Given the description of an element on the screen output the (x, y) to click on. 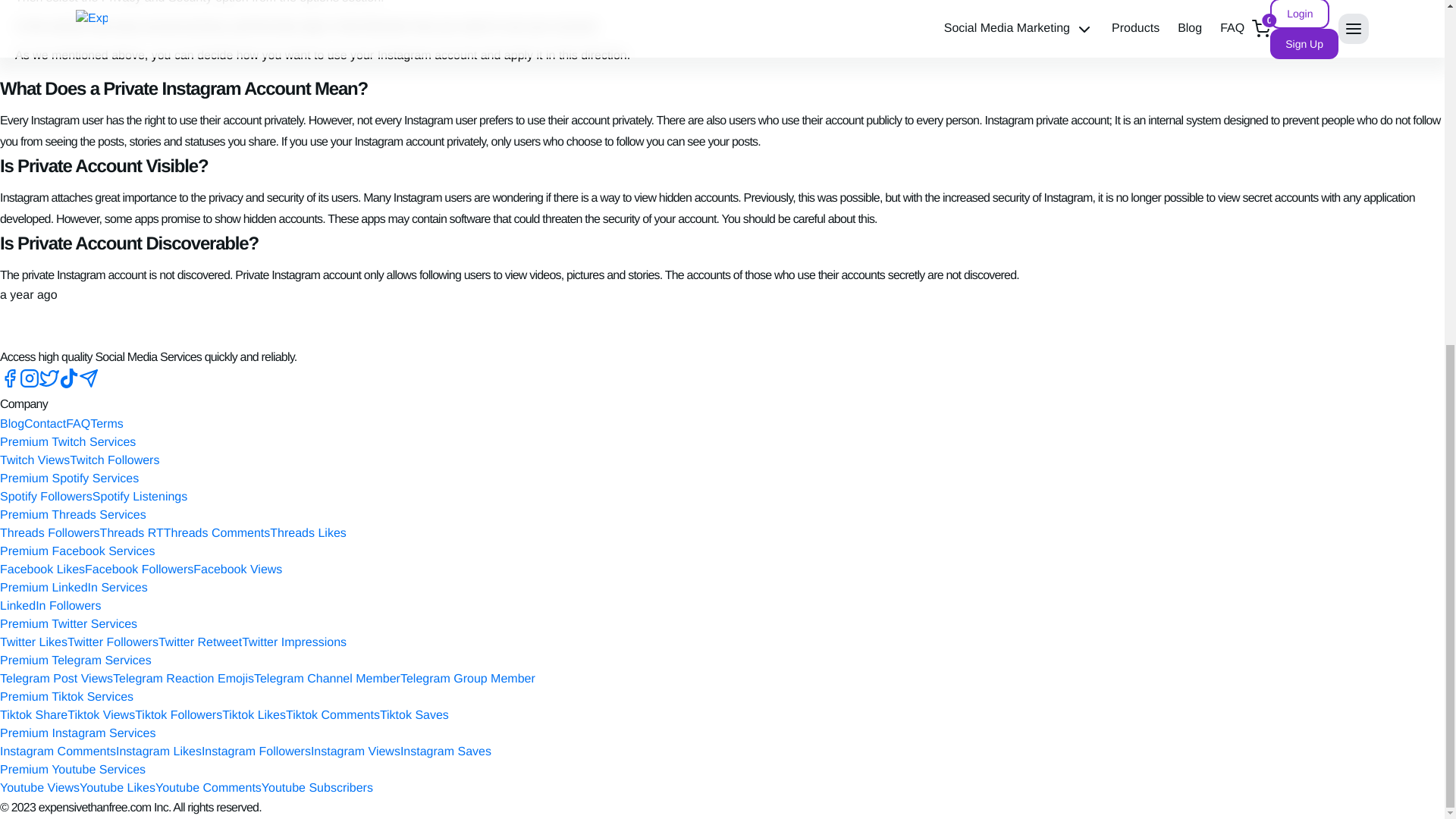
Threads Comments (216, 533)
Spotify Listenings (140, 496)
Facebook Followers (138, 569)
LinkedIn Followers (50, 605)
Premium Threads Services (73, 514)
Facebook (10, 384)
Twitter (49, 384)
Blog (12, 423)
Premium LinkedIn Services (74, 587)
Twitch Views (34, 460)
Threads Followers (50, 533)
Contact (44, 423)
Expensivethanfree Logo (18, 322)
Premium Twitch Services (67, 441)
Terms (106, 423)
